Given the description of an element on the screen output the (x, y) to click on. 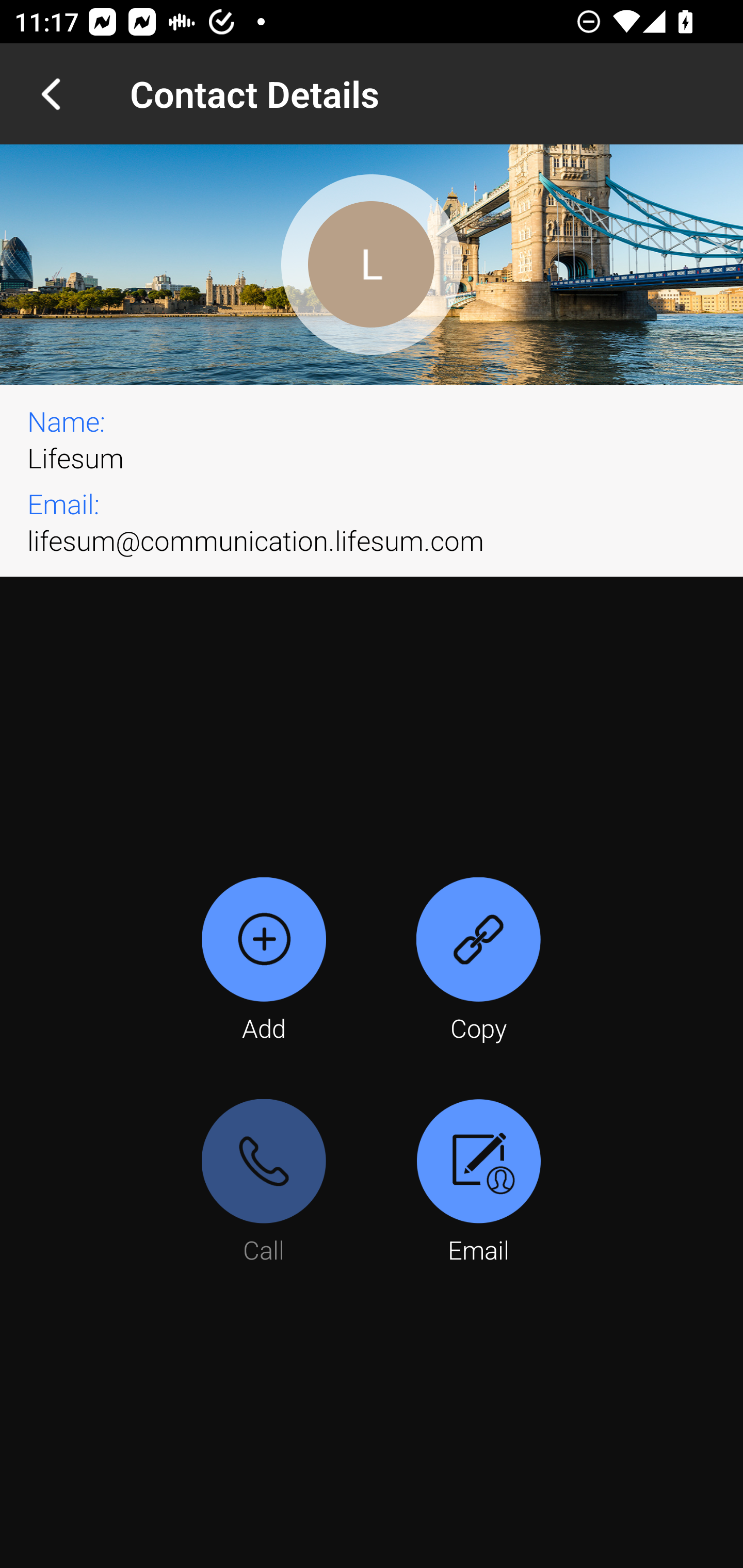
Navigate up (50, 93)
Add (264, 961)
Copy (478, 961)
Call (264, 1182)
Email (478, 1182)
